Given the description of an element on the screen output the (x, y) to click on. 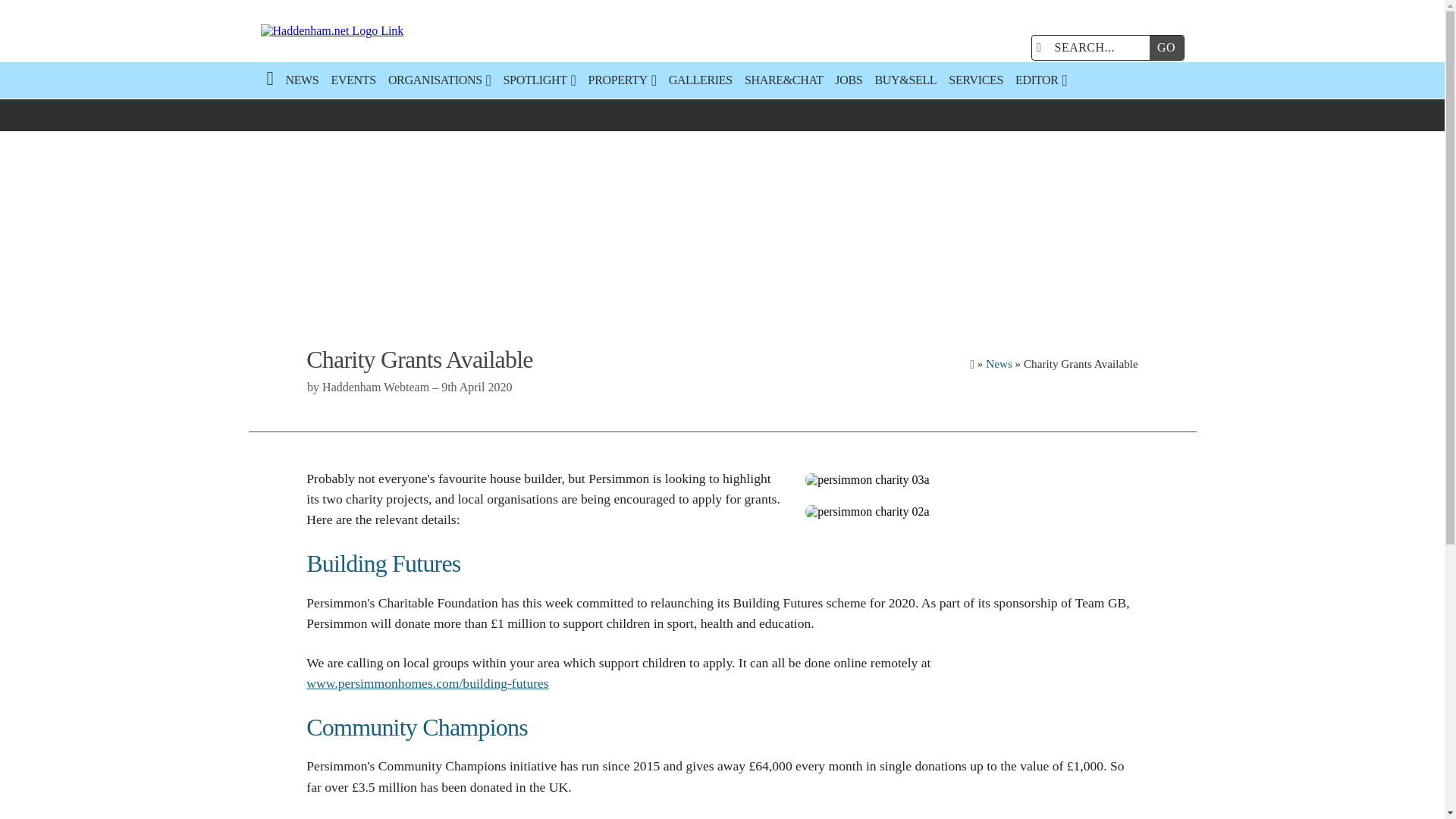
SEARCH... (1093, 47)
EDITOR (1041, 80)
Visit our X Feed (1004, 46)
SPOTLIGHT (539, 80)
News (998, 363)
ORGANISATIONS (439, 80)
PROPERTY (622, 80)
GALLERIES (700, 80)
Visit our Facebook Page (975, 46)
JOBS (847, 80)
EVENTS (352, 80)
NEWS (301, 80)
Haddenham.net Home (406, 31)
